Given the description of an element on the screen output the (x, y) to click on. 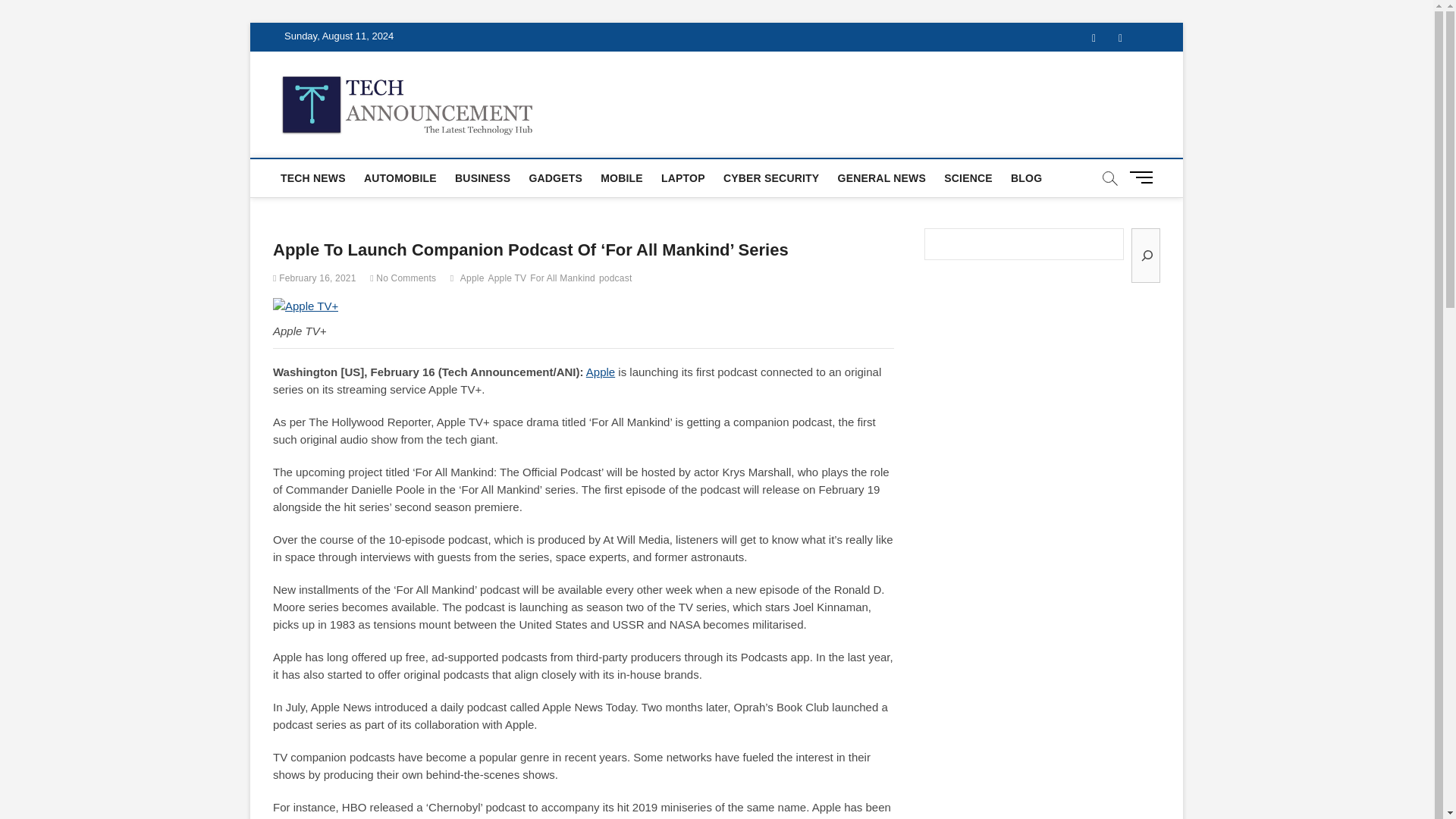
SCIENCE (968, 177)
MOBILE (621, 177)
Facebook (1093, 38)
Tech Announcement (659, 101)
CYBER SECURITY (771, 177)
BUSINESS (482, 177)
AUTOMOBILE (400, 177)
February 16, 2021 (314, 277)
Menu Button (1144, 176)
